Given the description of an element on the screen output the (x, y) to click on. 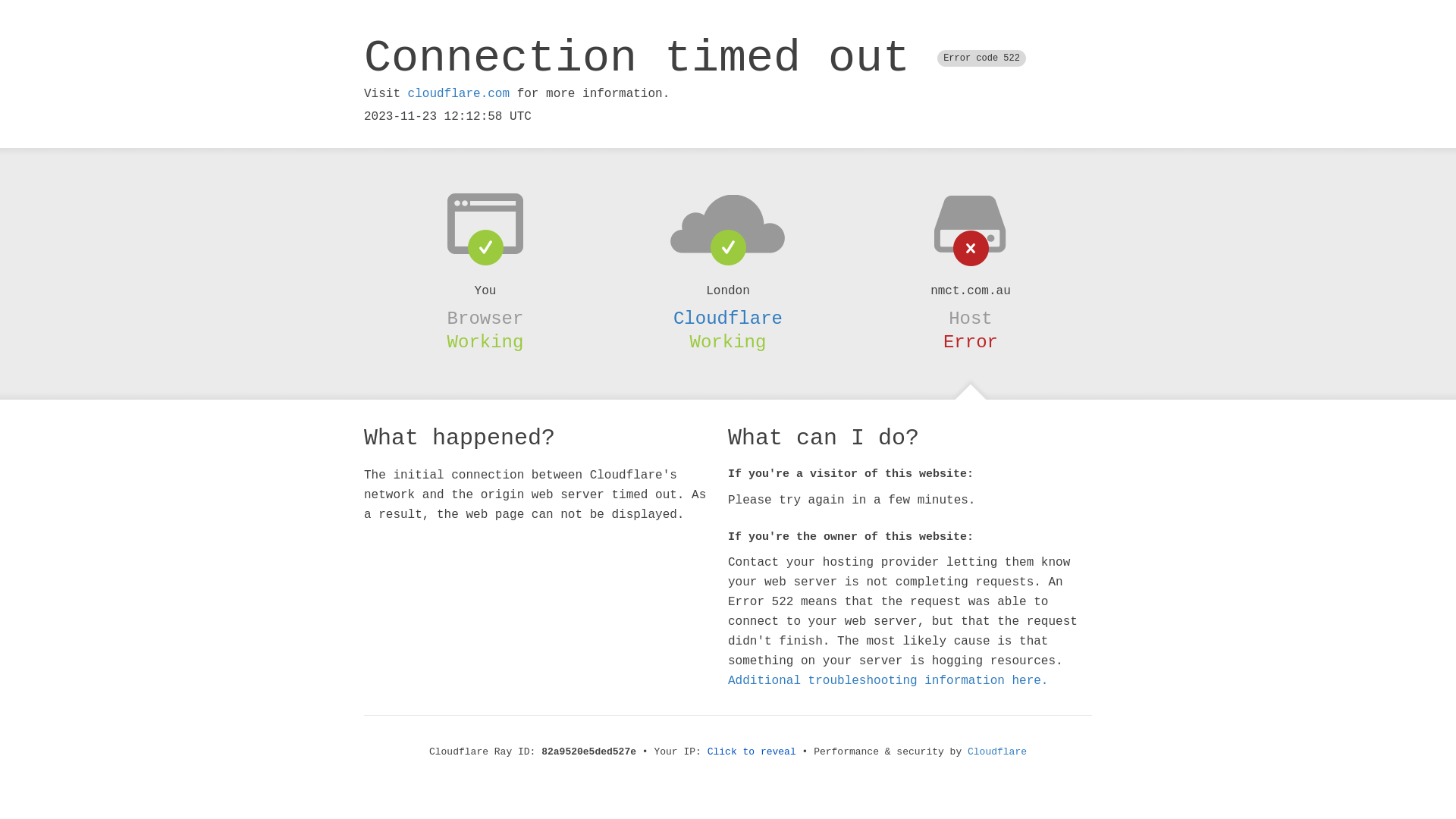
Cloudflare Element type: text (996, 751)
Additional troubleshooting information here. Element type: text (888, 680)
cloudflare.com Element type: text (458, 93)
Click to reveal Element type: text (751, 751)
Cloudflare Element type: text (727, 318)
